Given the description of an element on the screen output the (x, y) to click on. 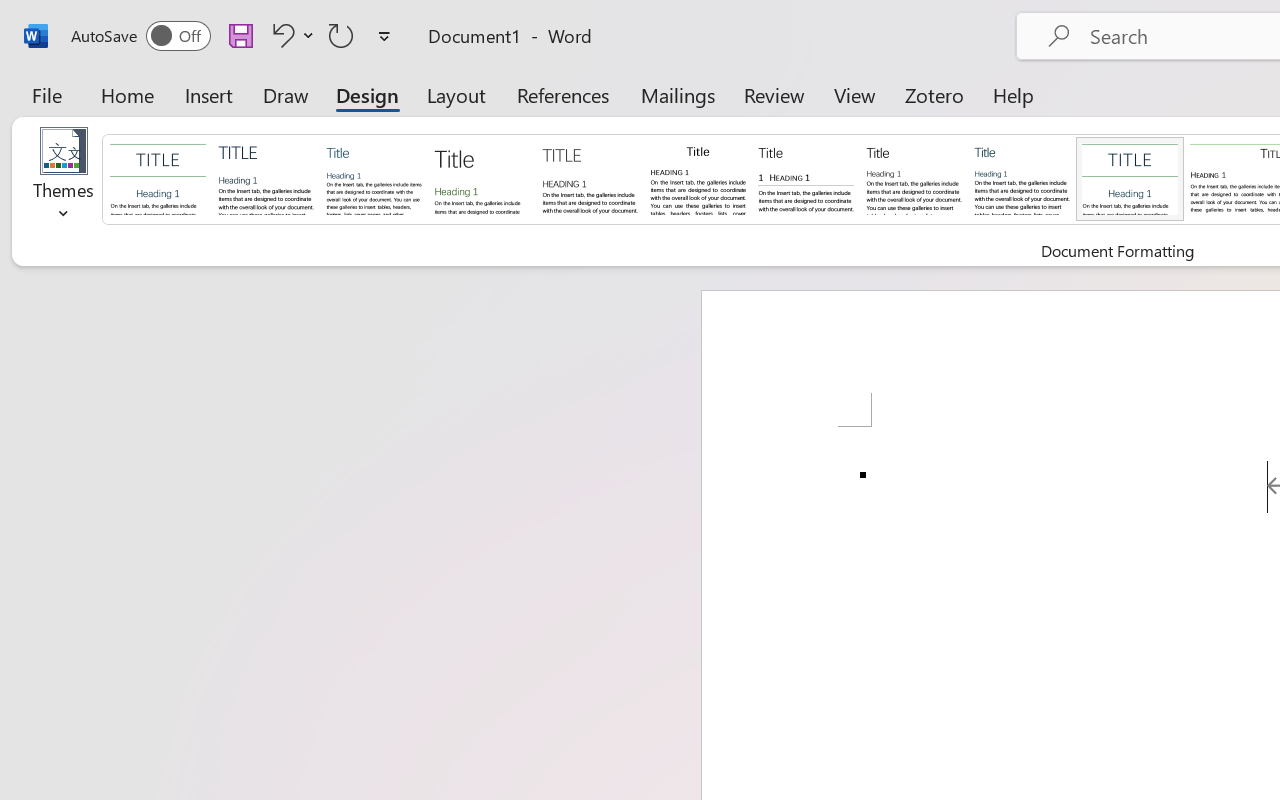
Themes (63, 179)
Basic (Stylish) (481, 178)
Basic (Elegant) (266, 178)
Black & White (Classic) (697, 178)
Document (157, 178)
Black & White (Word 2013) (913, 178)
Casual (1021, 178)
